Given the description of an element on the screen output the (x, y) to click on. 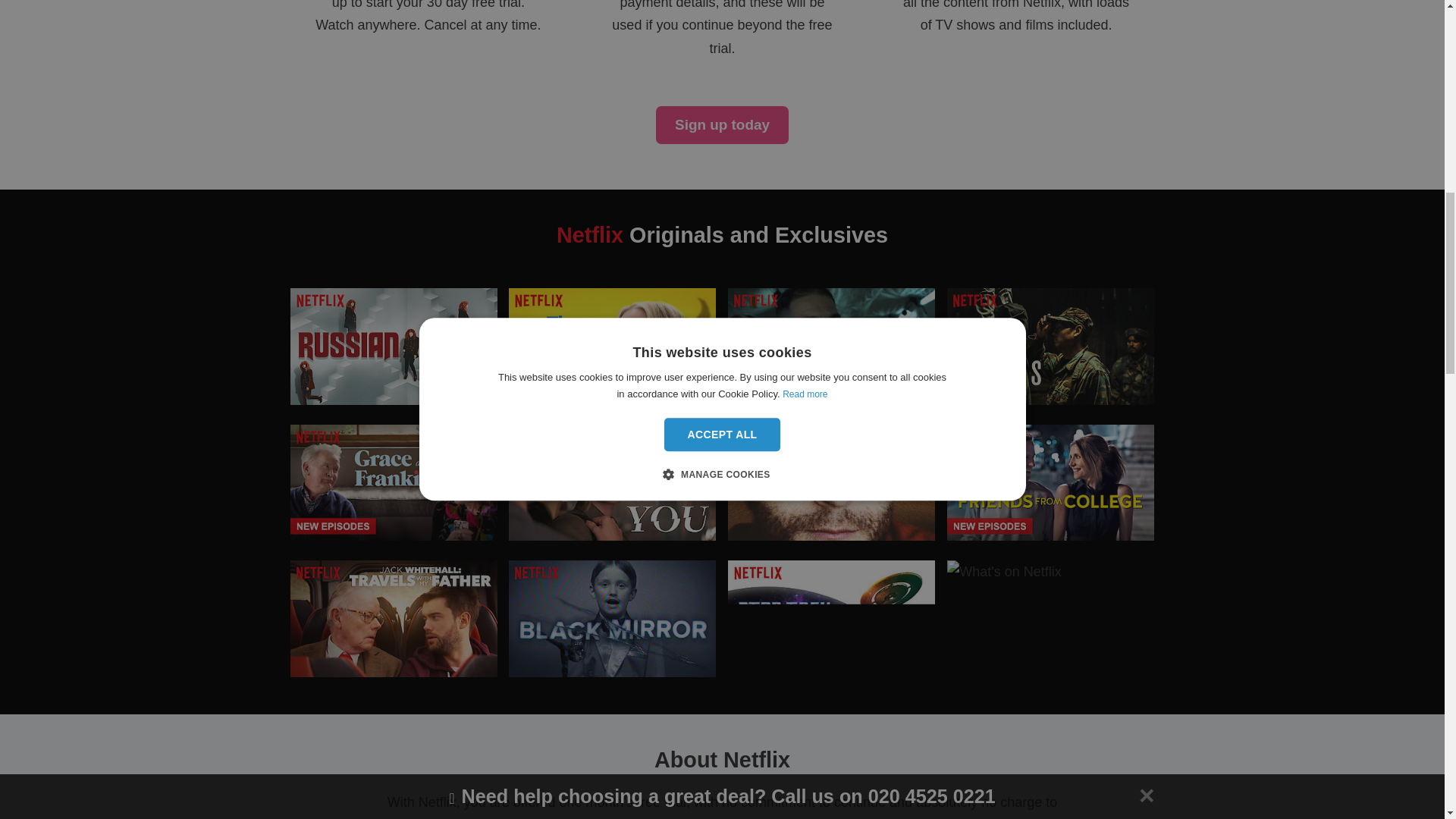
Sign up today (722, 125)
